Given the description of an element on the screen output the (x, y) to click on. 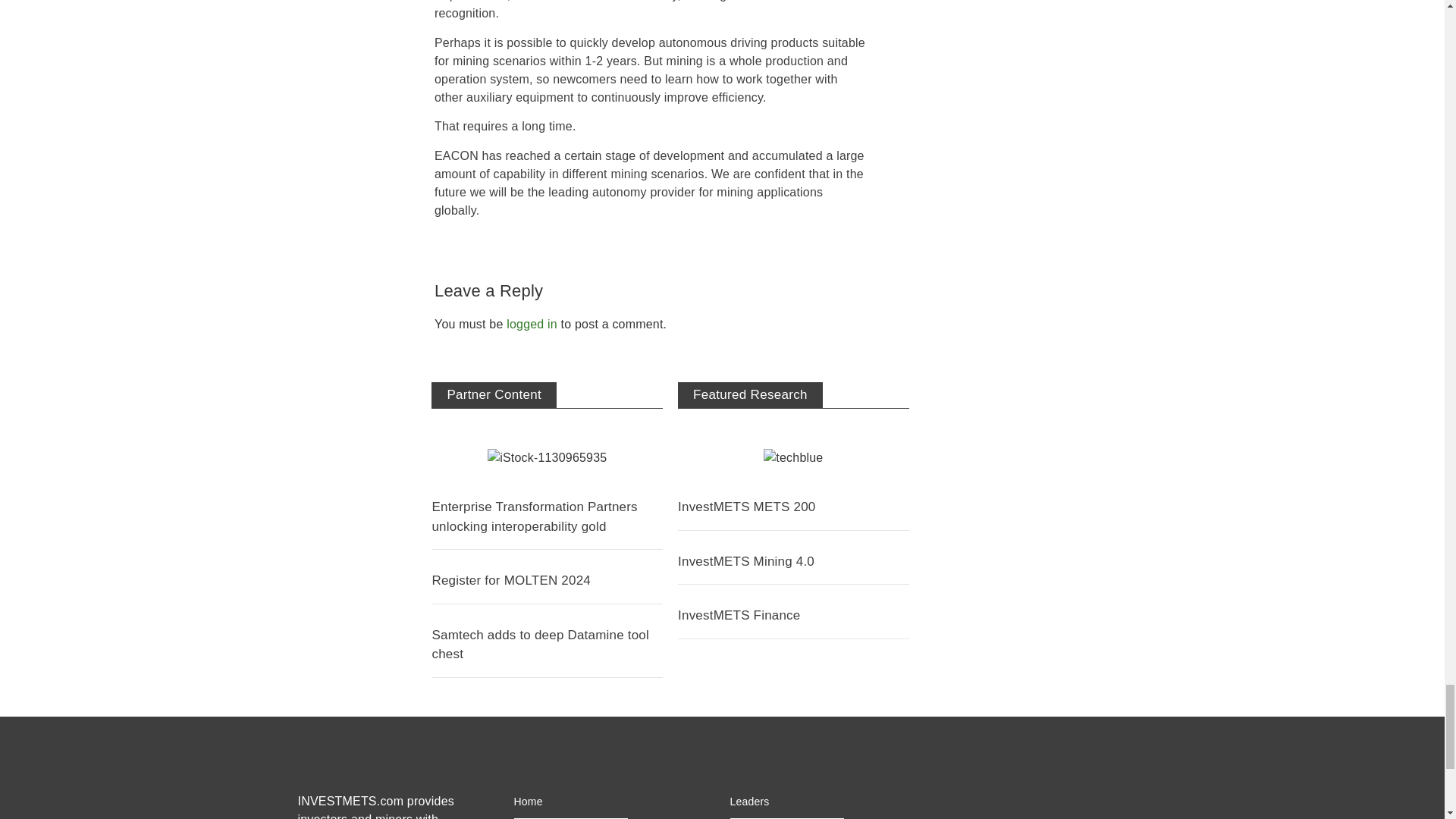
InvestMETS METS 200 (746, 506)
logged in (531, 323)
Samtech adds to deep Datamine tool chest (539, 644)
iStock-1130965935 (547, 457)
Register for MOLTEN 2024 (510, 580)
techblue (792, 457)
